Given the description of an element on the screen output the (x, y) to click on. 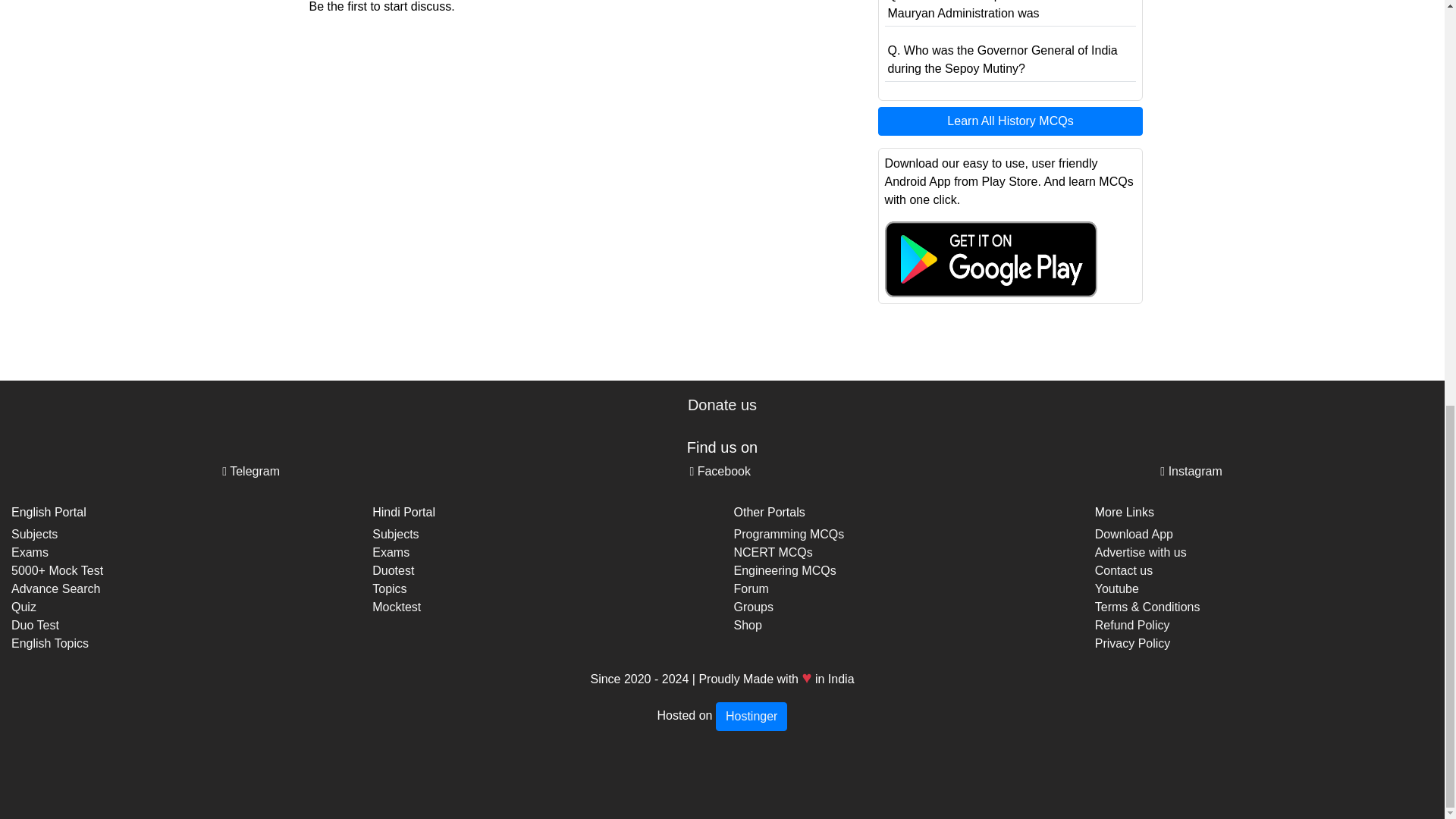
Watch our videos on youtube (1116, 588)
Subjects (34, 533)
Facebook (719, 471)
Donate us (722, 404)
Instagram (1190, 471)
Telegram (250, 471)
Learn All History MCQs (1009, 121)
